Given the description of an element on the screen output the (x, y) to click on. 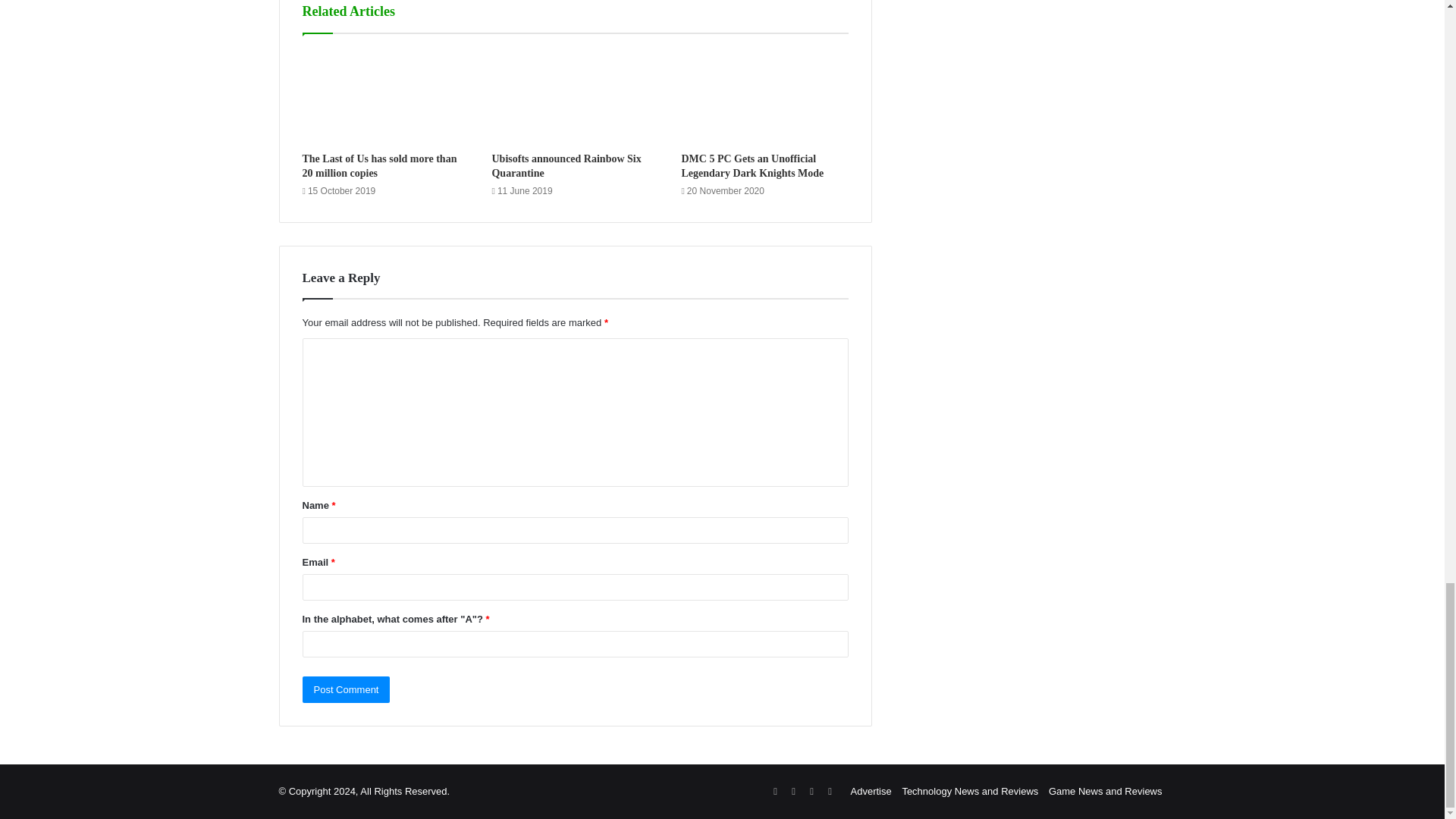
DMC 5 PC Gets an Unofficial Legendary Dark Knights Mode 4 (764, 96)
Ubisofts announced Rainbow Six Quarantine 3 (575, 96)
The Last of Us has sold more than 20 million copies 2 (384, 96)
Post Comment (345, 689)
